Given the description of an element on the screen output the (x, y) to click on. 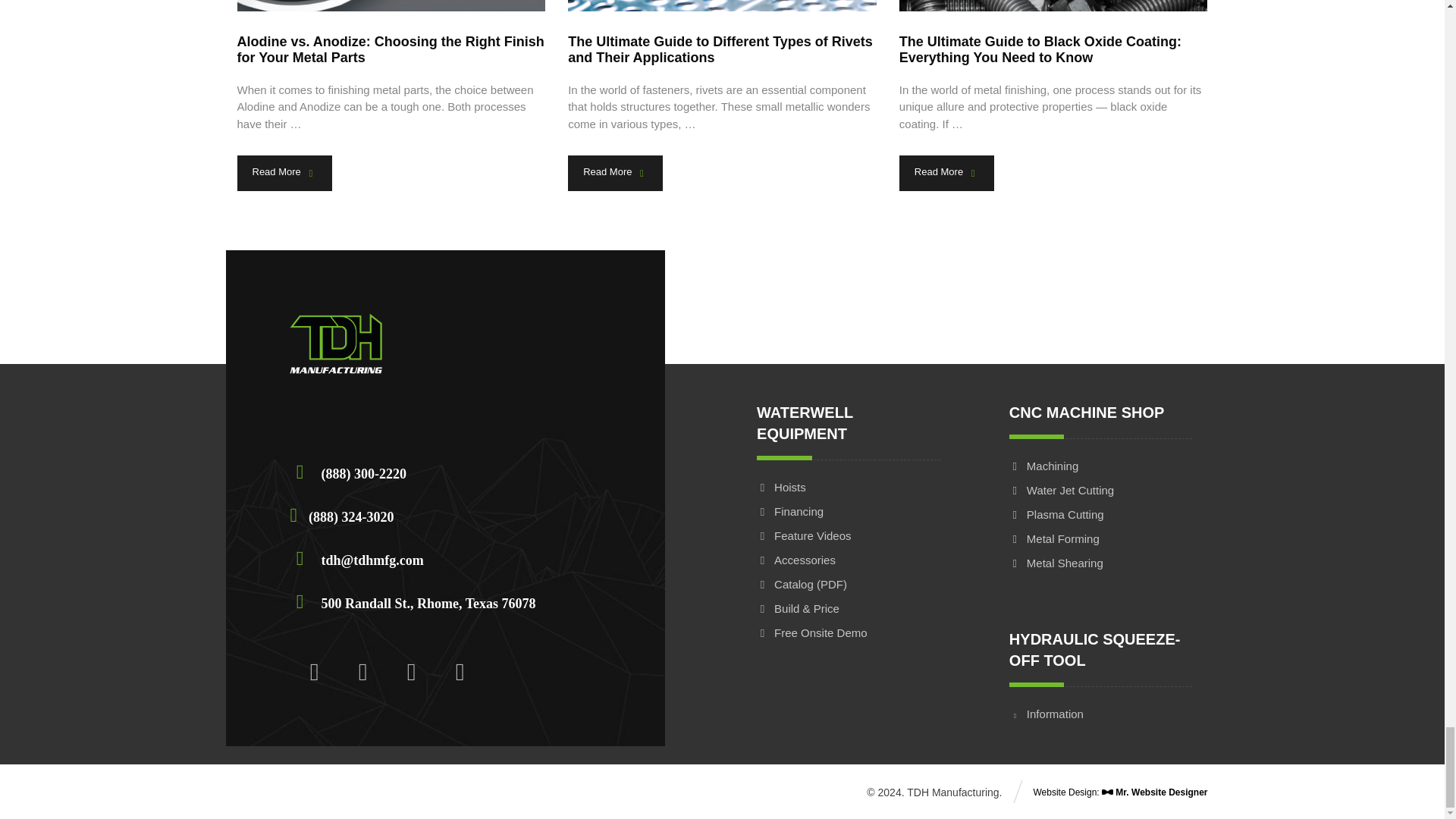
Facebook (313, 671)
Instagram (362, 671)
Yelp (459, 671)
YouTube (411, 671)
500 Randall St., Rhome, Texas 76078 (416, 600)
